Given the description of an element on the screen output the (x, y) to click on. 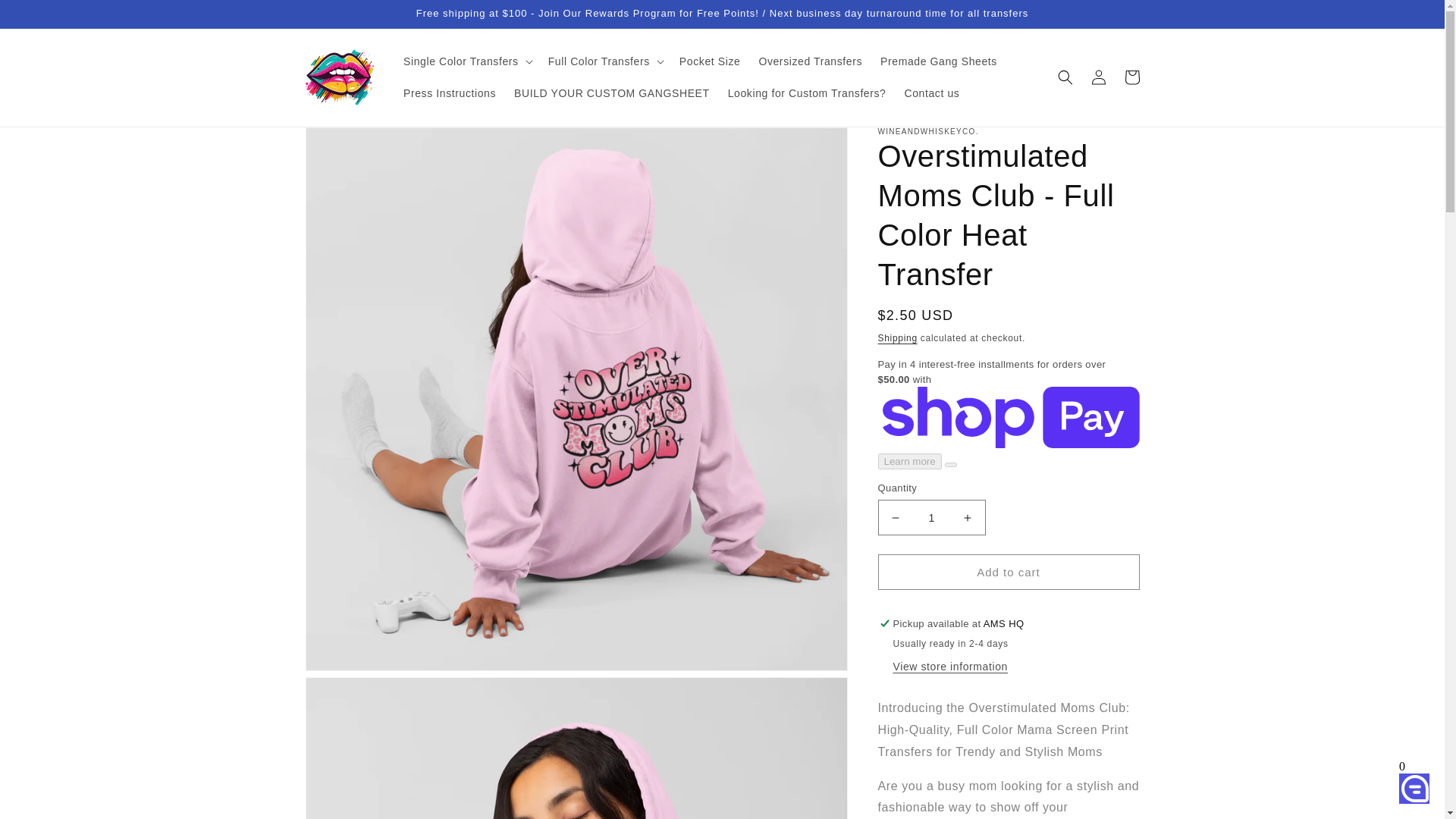
1 (931, 517)
Front Chat (1405, 783)
Skip to content (45, 17)
